Given the description of an element on the screen output the (x, y) to click on. 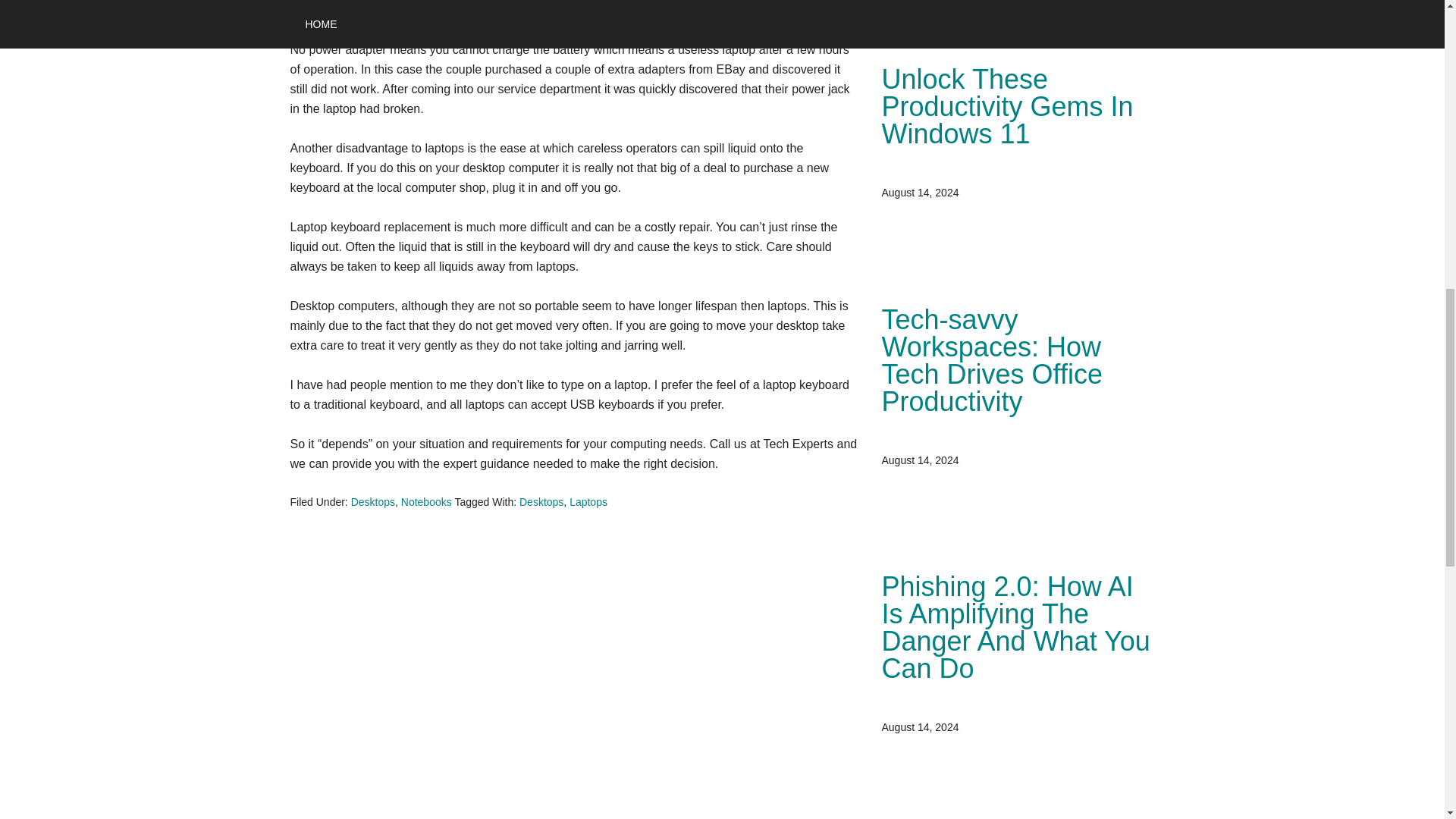
Notebooks (426, 501)
Desktops (372, 501)
Unlock These Productivity Gems In Windows 11 (1006, 106)
Tech-savvy Workspaces: How Tech Drives Office Productivity (991, 359)
Laptops (588, 501)
Desktops (541, 501)
